Given the description of an element on the screen output the (x, y) to click on. 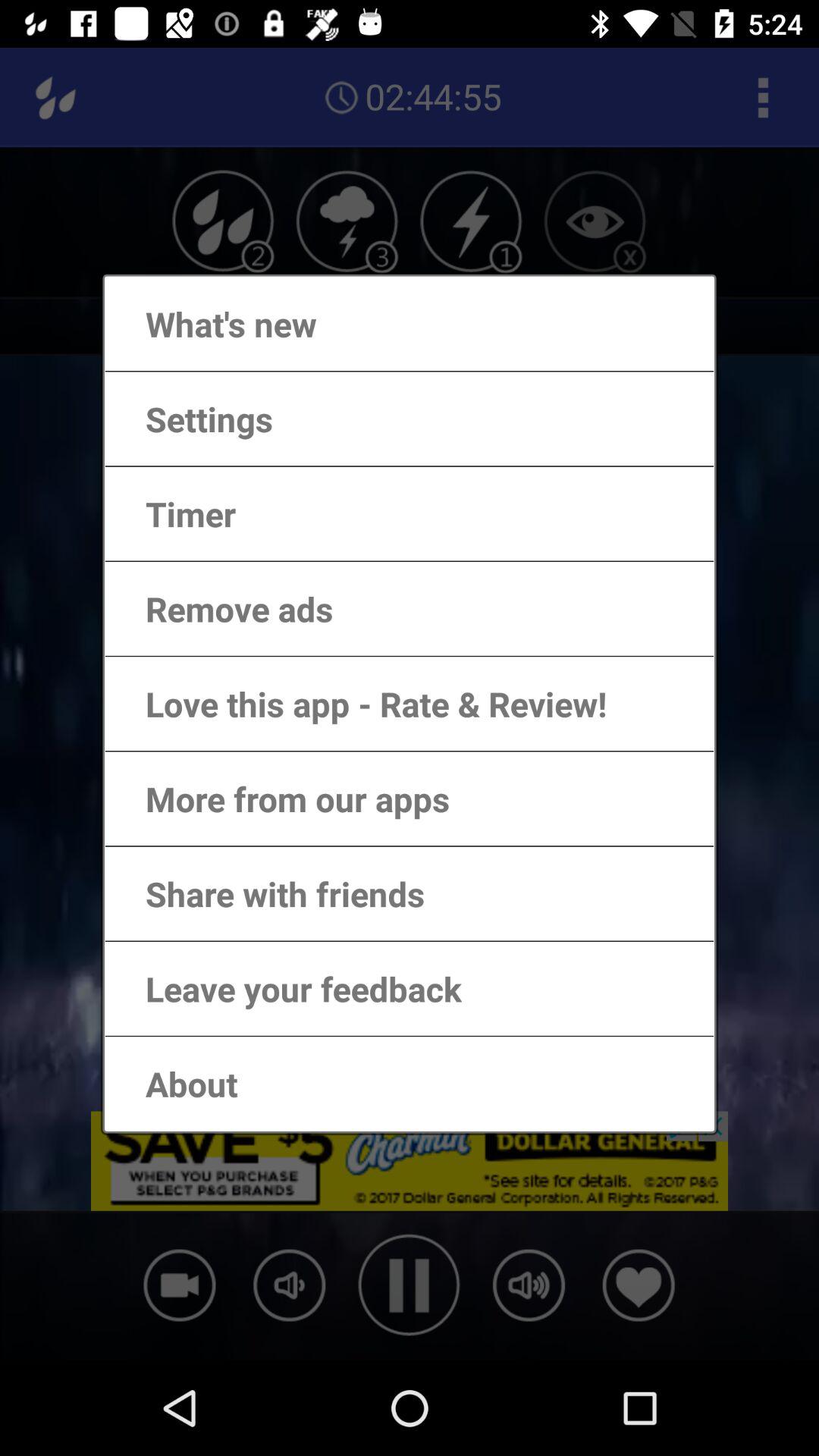
tap about item (176, 1083)
